Given the description of an element on the screen output the (x, y) to click on. 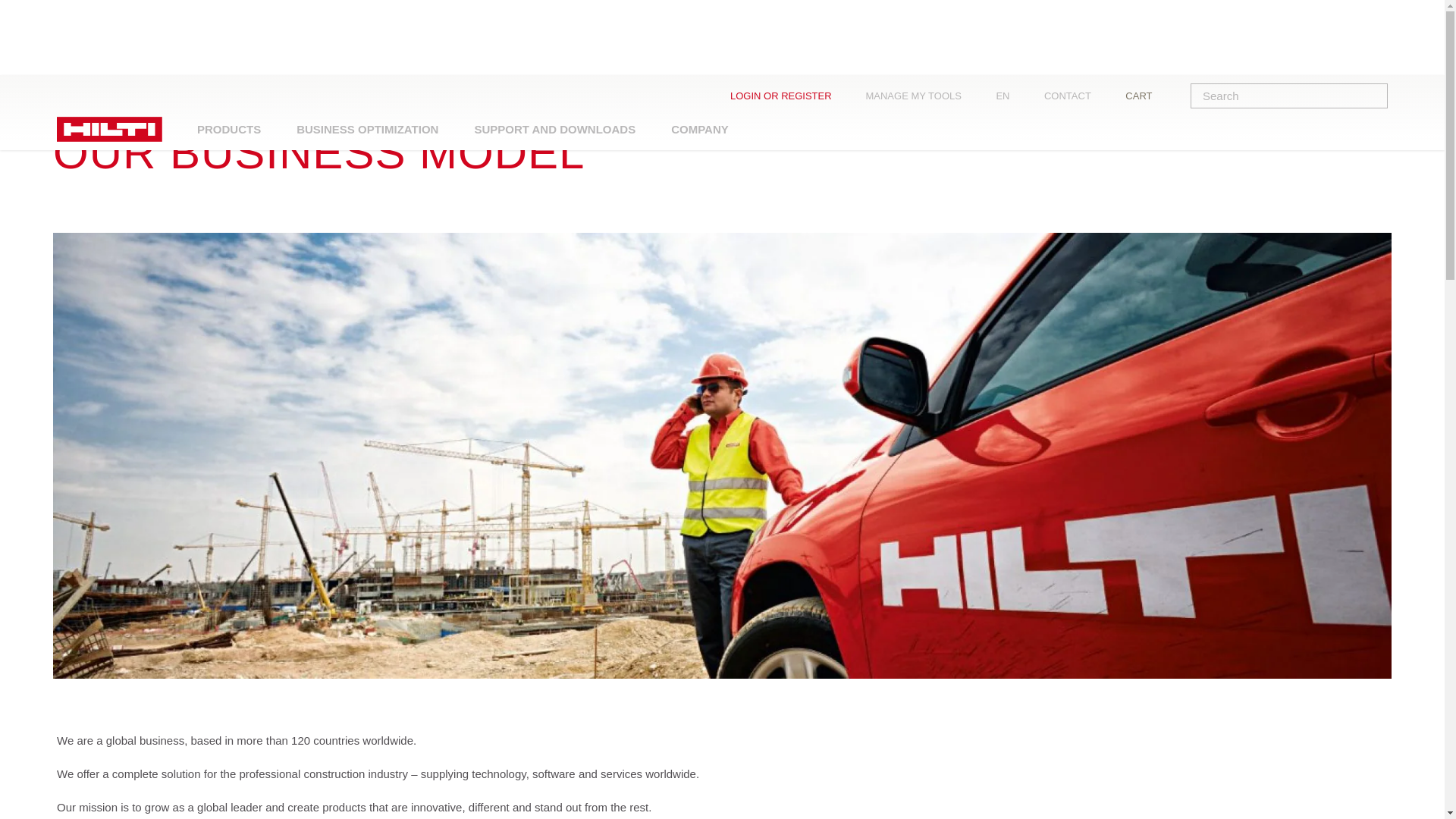
Corporate Information (205, 104)
PRODUCTS (229, 129)
SUPPORT AND DOWNLOADS (554, 129)
CONTACT (1078, 95)
Search Field (1377, 95)
COMPANY (699, 129)
Home (73, 104)
EN (1013, 95)
MANAGE MY TOOLS (924, 95)
LOGIN OR REGISTER (792, 95)
Company (122, 104)
Strategy (286, 104)
CART (1149, 95)
BUSINESS OPTIMIZATION (367, 129)
